Given the description of an element on the screen output the (x, y) to click on. 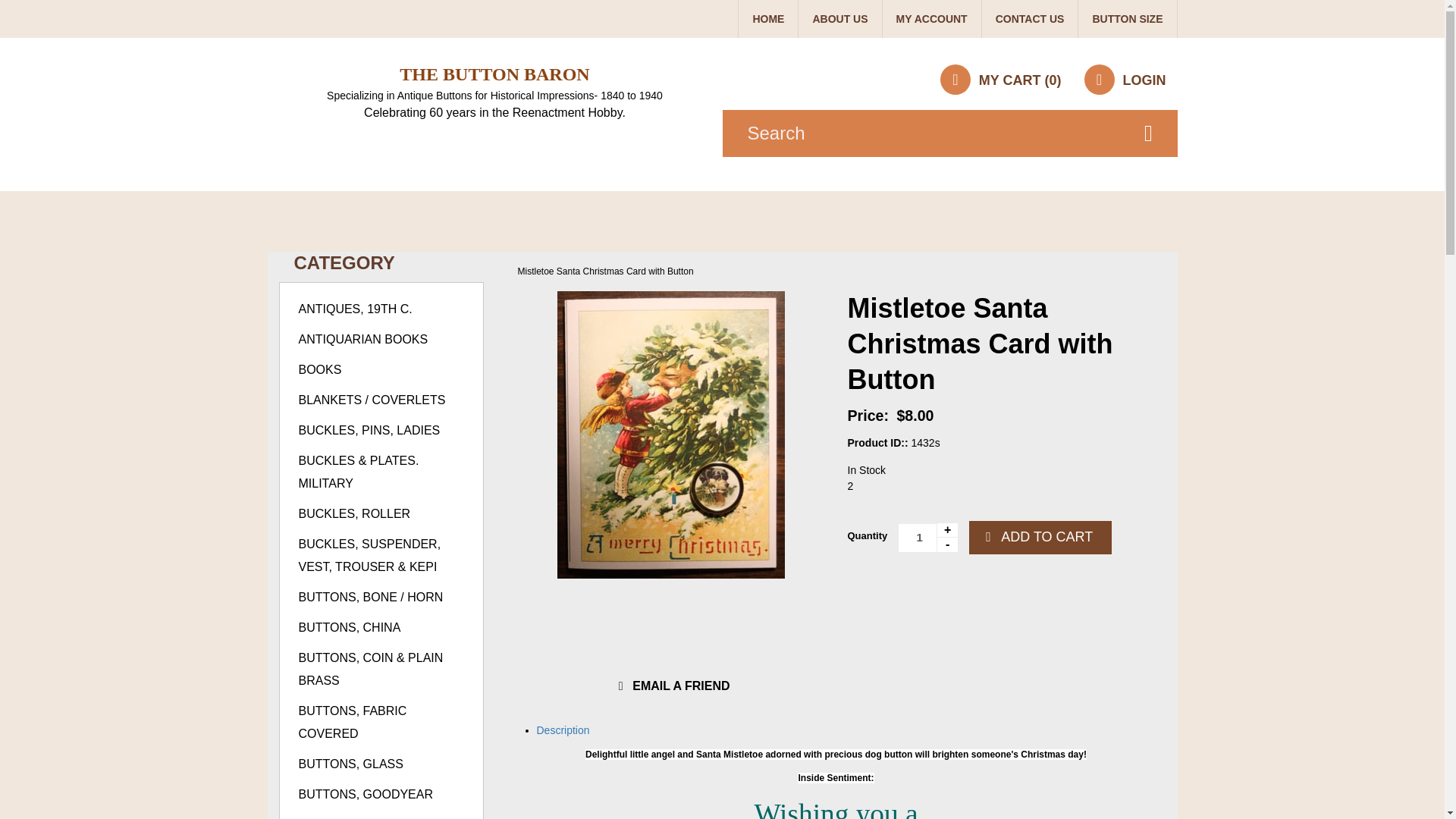
ANTIQUARIAN BOOKS (363, 338)
BUCKLES, PINS, LADIES (369, 430)
BUTTONS, CHINA (349, 626)
BUTTON SIZE (1127, 18)
BUTTONS, FABRIC COVERED (352, 722)
CONTACT US (1029, 18)
MY ACCOUNT (931, 18)
BUTTONS, GOODYEAR (365, 793)
BUCKLES, ROLLER (354, 513)
ABOUT US (838, 18)
